Given the description of an element on the screen output the (x, y) to click on. 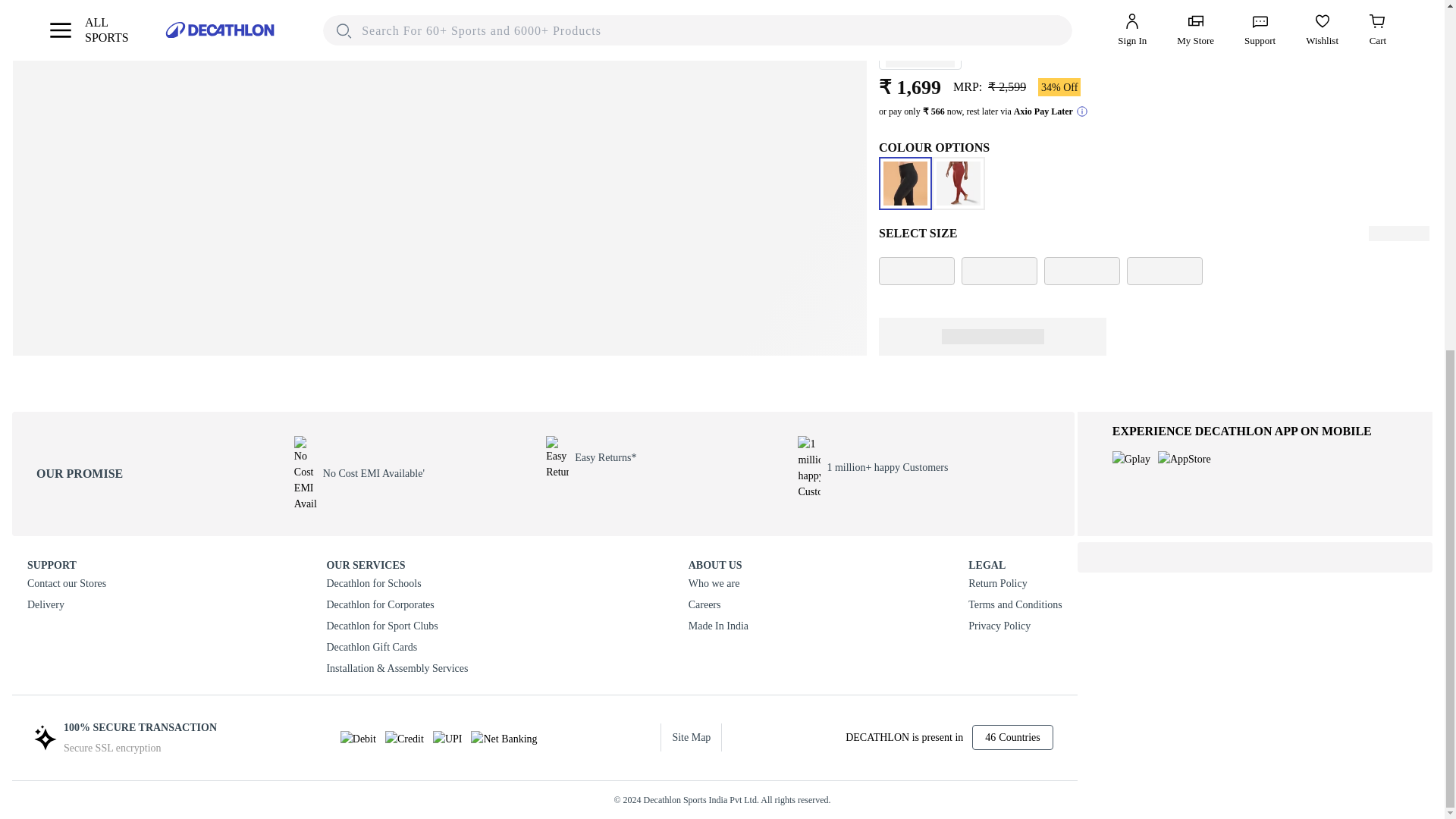
Decathlon for Sport Clubs (396, 626)
Site Map (691, 737)
Decathlon Gift Cards (396, 647)
Who we are (718, 583)
Contact our Stores (66, 583)
Made In India (718, 626)
Delivery (66, 604)
Careers (718, 604)
Terms and Conditions (1014, 604)
Decathlon for Corporates (396, 604)
